Given the description of an element on the screen output the (x, y) to click on. 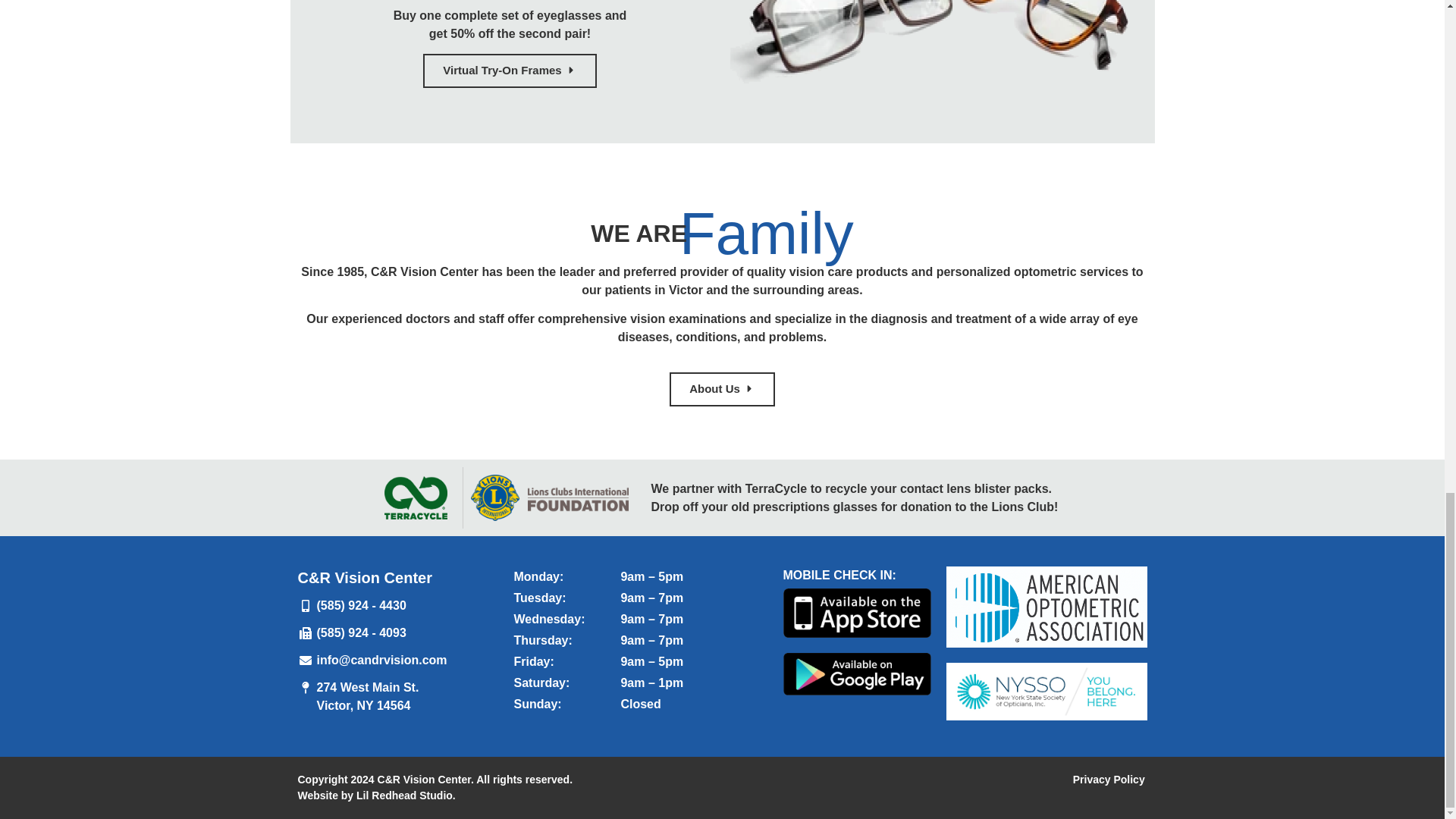
About Us (721, 389)
Virtual Try-On Frames (509, 70)
